Given the description of an element on the screen output the (x, y) to click on. 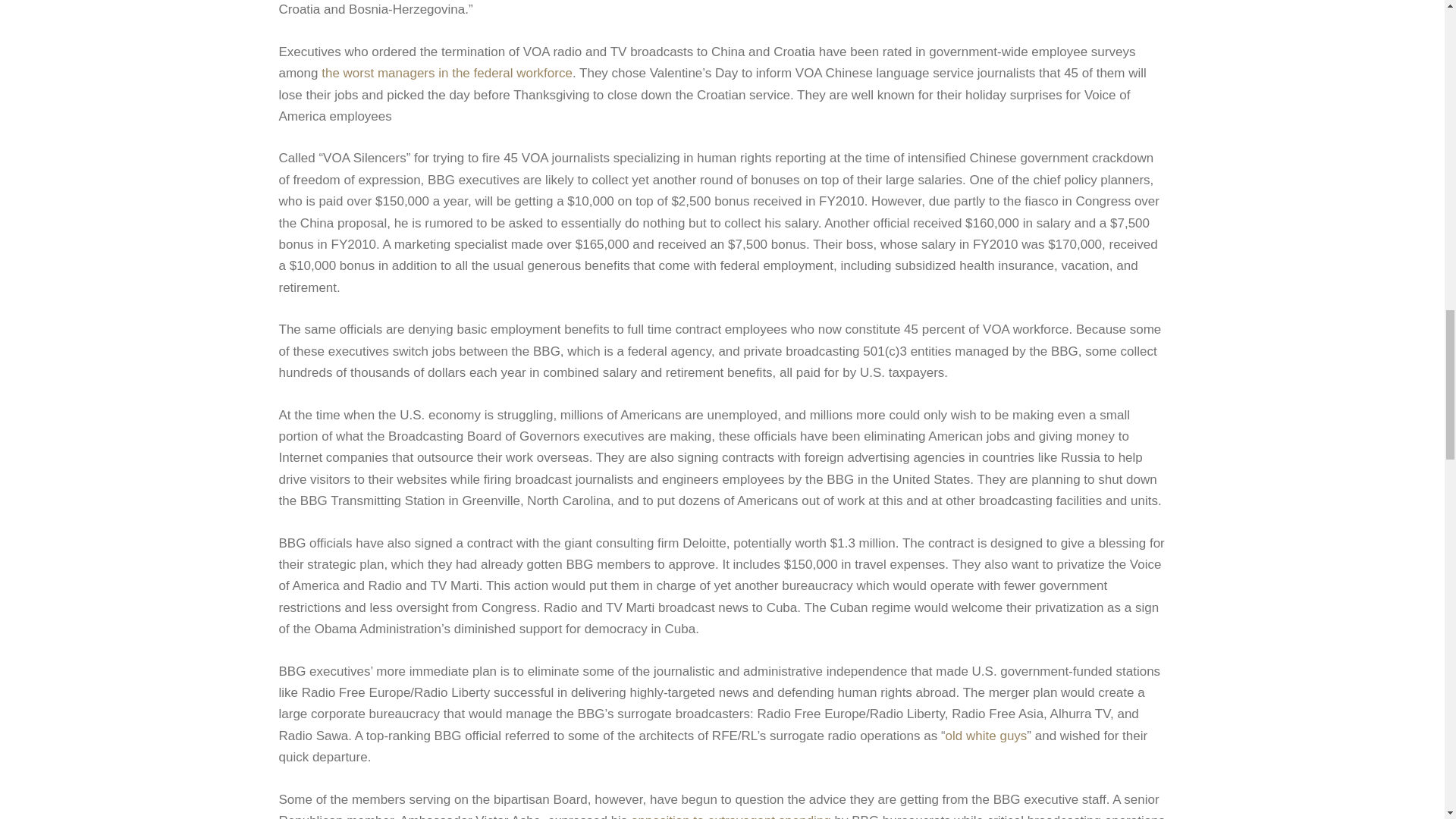
the worst managers in the federal workforce (446, 73)
The Long, Slow Crawl Up The Mountain, Part II (446, 73)
opposition to extravagant spending (730, 816)
old white guys (985, 735)
